Given the description of an element on the screen output the (x, y) to click on. 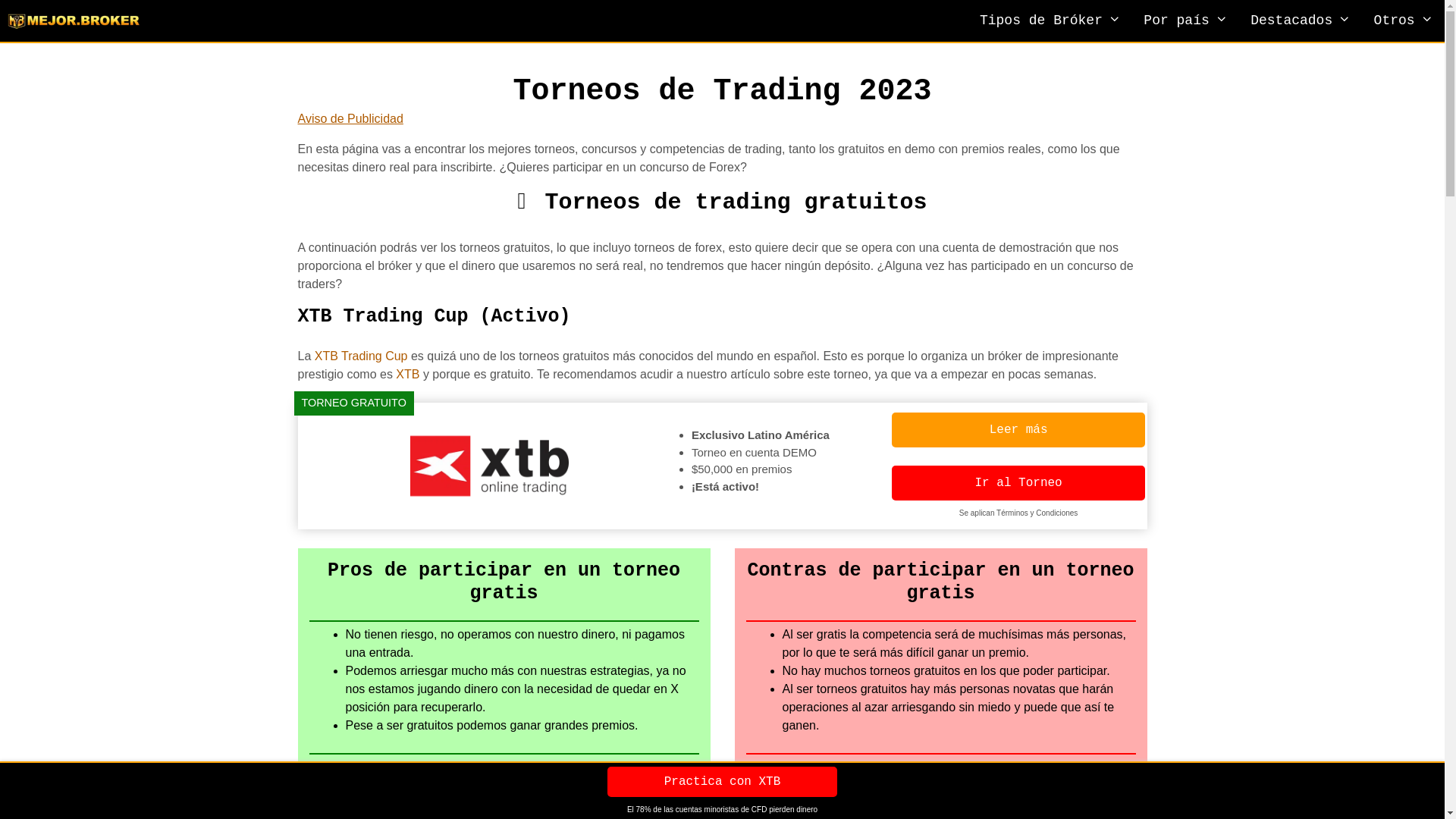
Aviso de Publicidad Element type: text (349, 118)
Destacados Element type: text (1300, 20)
XTB Element type: text (407, 373)
Practica con XTB Element type: text (722, 781)
Ir al Torneo Element type: text (1018, 482)
XTB Trading Cup Element type: text (360, 355)
Otros Element type: text (1403, 20)
Ir al Torneo Element type: text (1017, 482)
Practica con XTB Element type: text (722, 781)
